Given the description of an element on the screen output the (x, y) to click on. 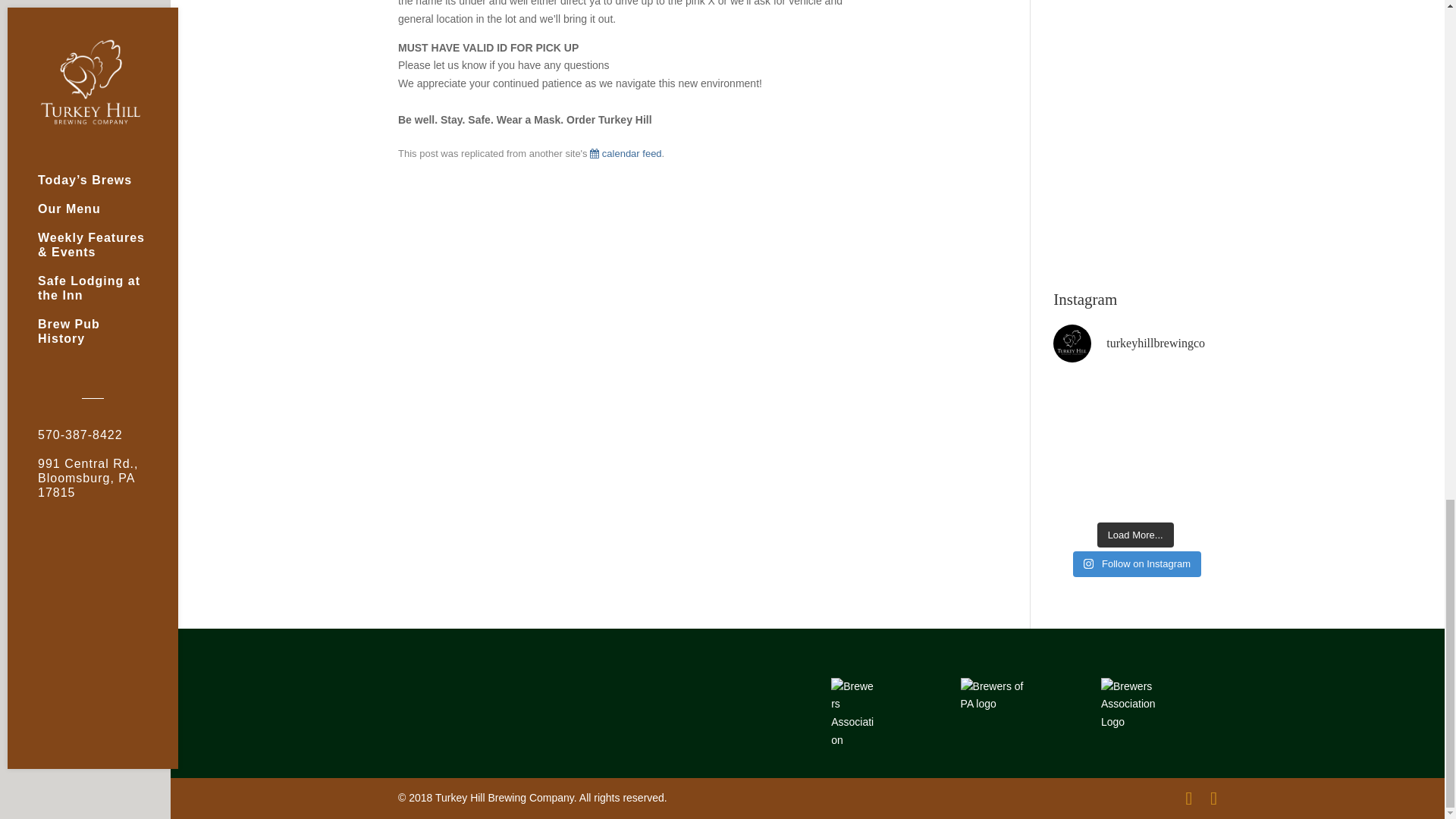
iCalendar feed (625, 153)
calendar feed (625, 153)
